Given the description of an element on the screen output the (x, y) to click on. 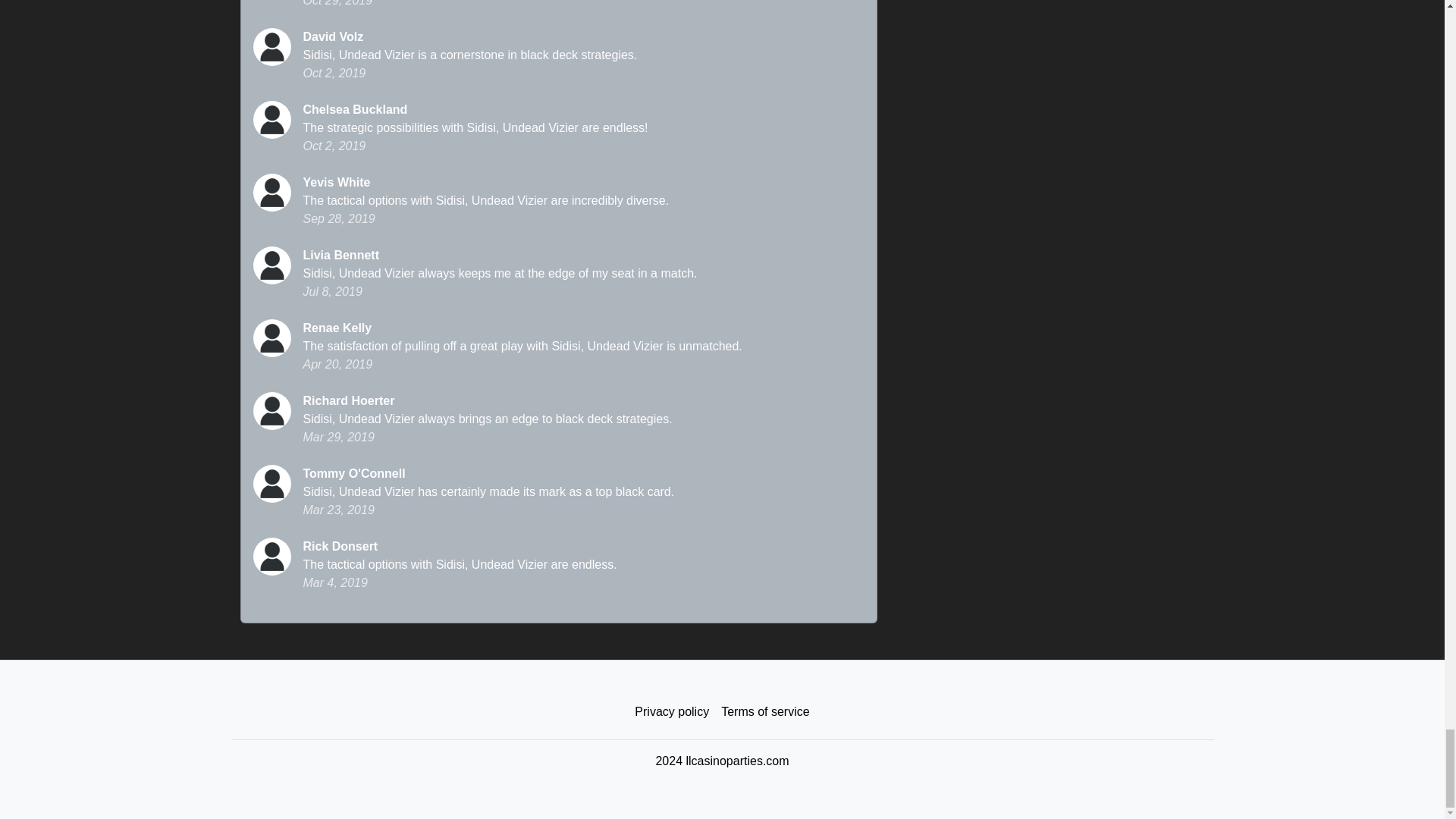
Terms of service (764, 711)
Privacy policy (671, 711)
